Given the description of an element on the screen output the (x, y) to click on. 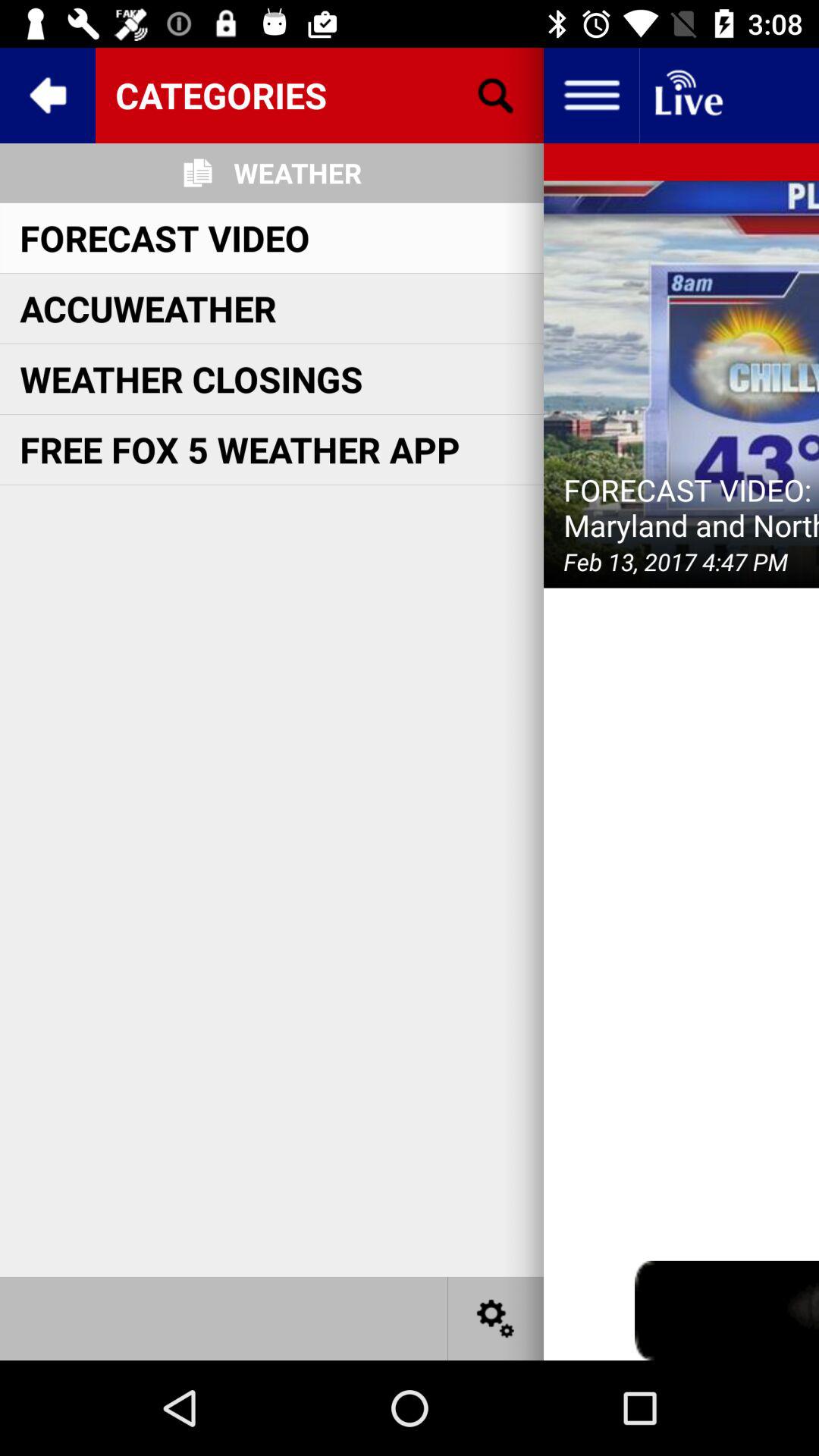
press icon below the weather closings item (239, 449)
